Given the description of an element on the screen output the (x, y) to click on. 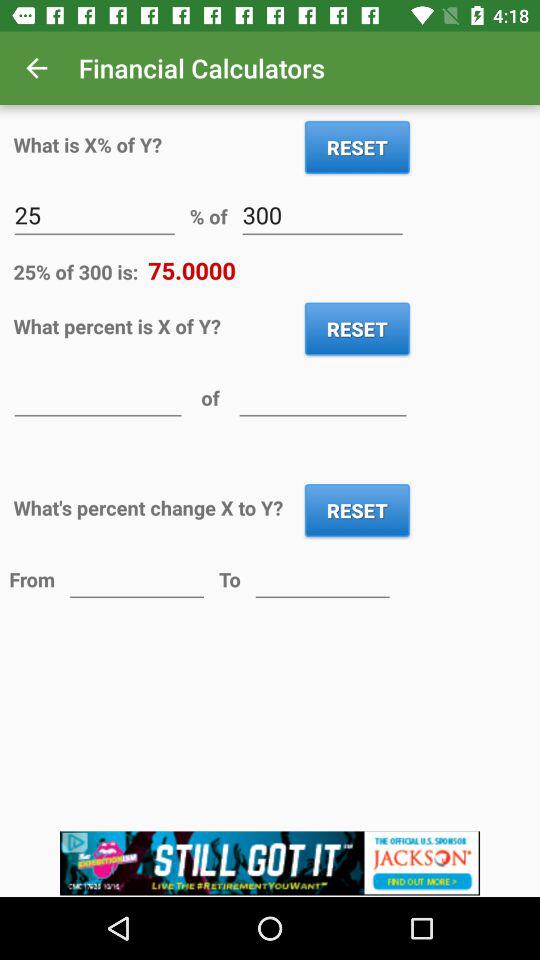
convert to (322, 578)
